Given the description of an element on the screen output the (x, y) to click on. 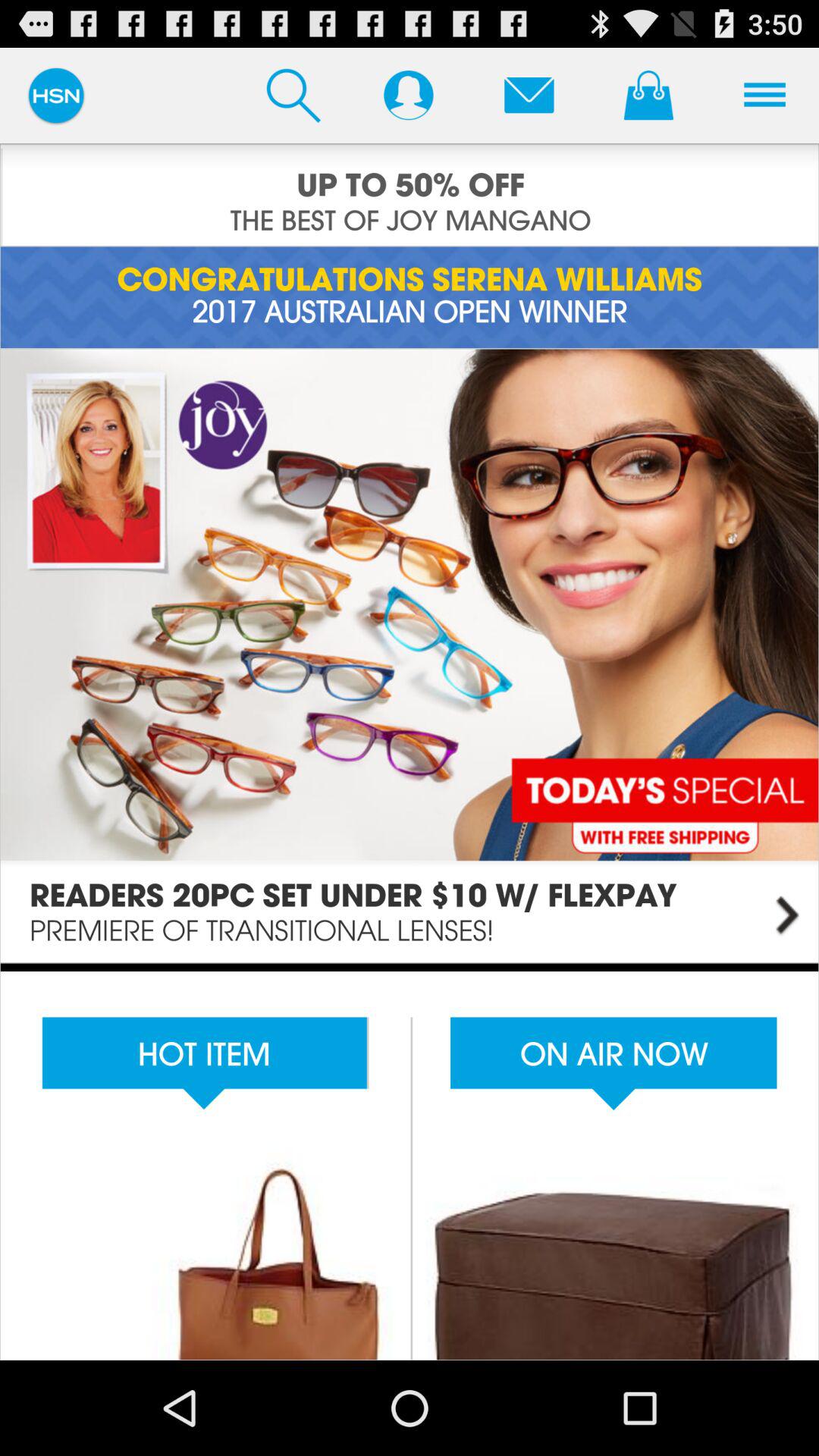
go to page (409, 655)
